Given the description of an element on the screen output the (x, y) to click on. 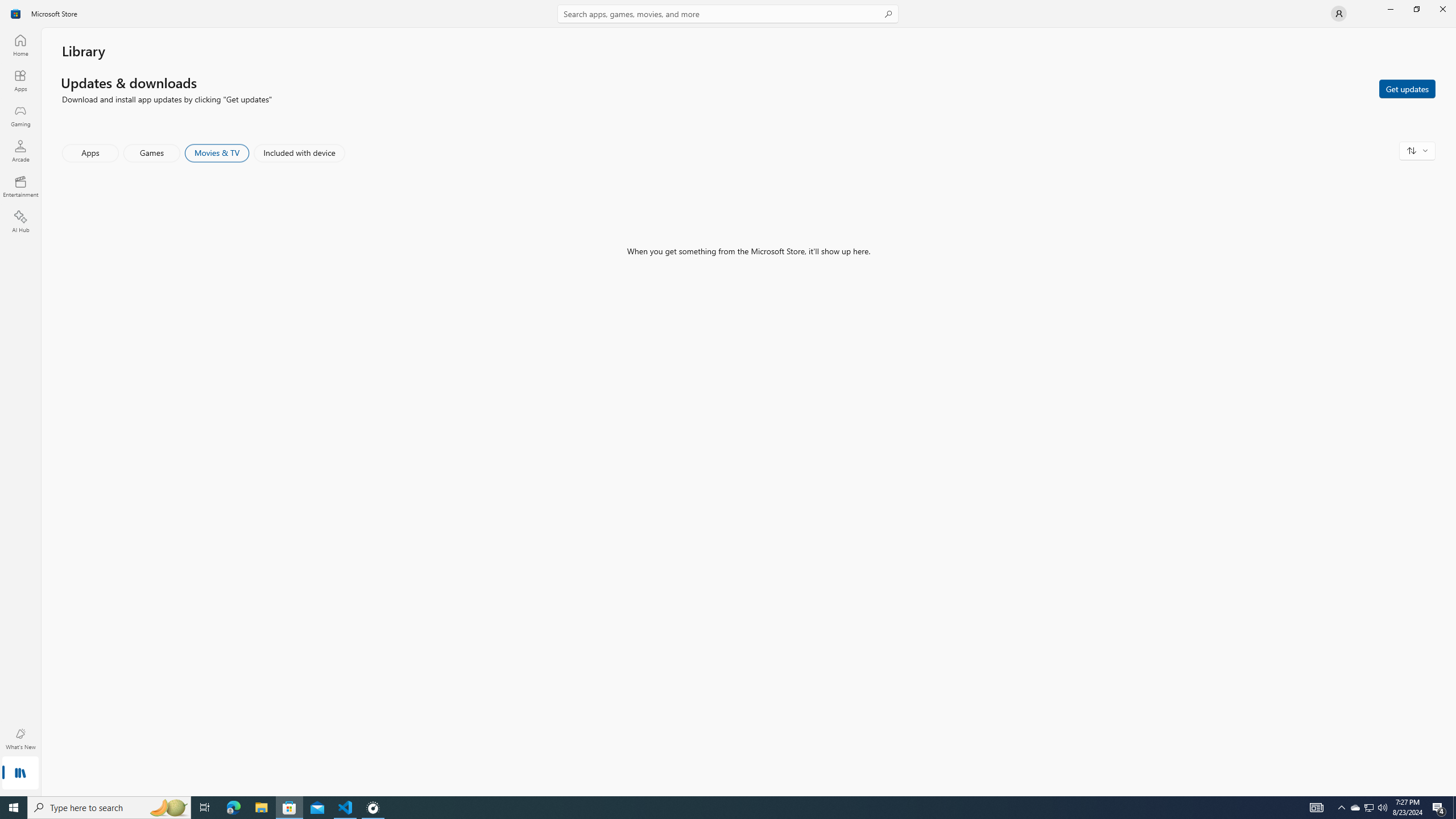
AutomationID: NavigationControl (728, 398)
